Given the description of an element on the screen output the (x, y) to click on. 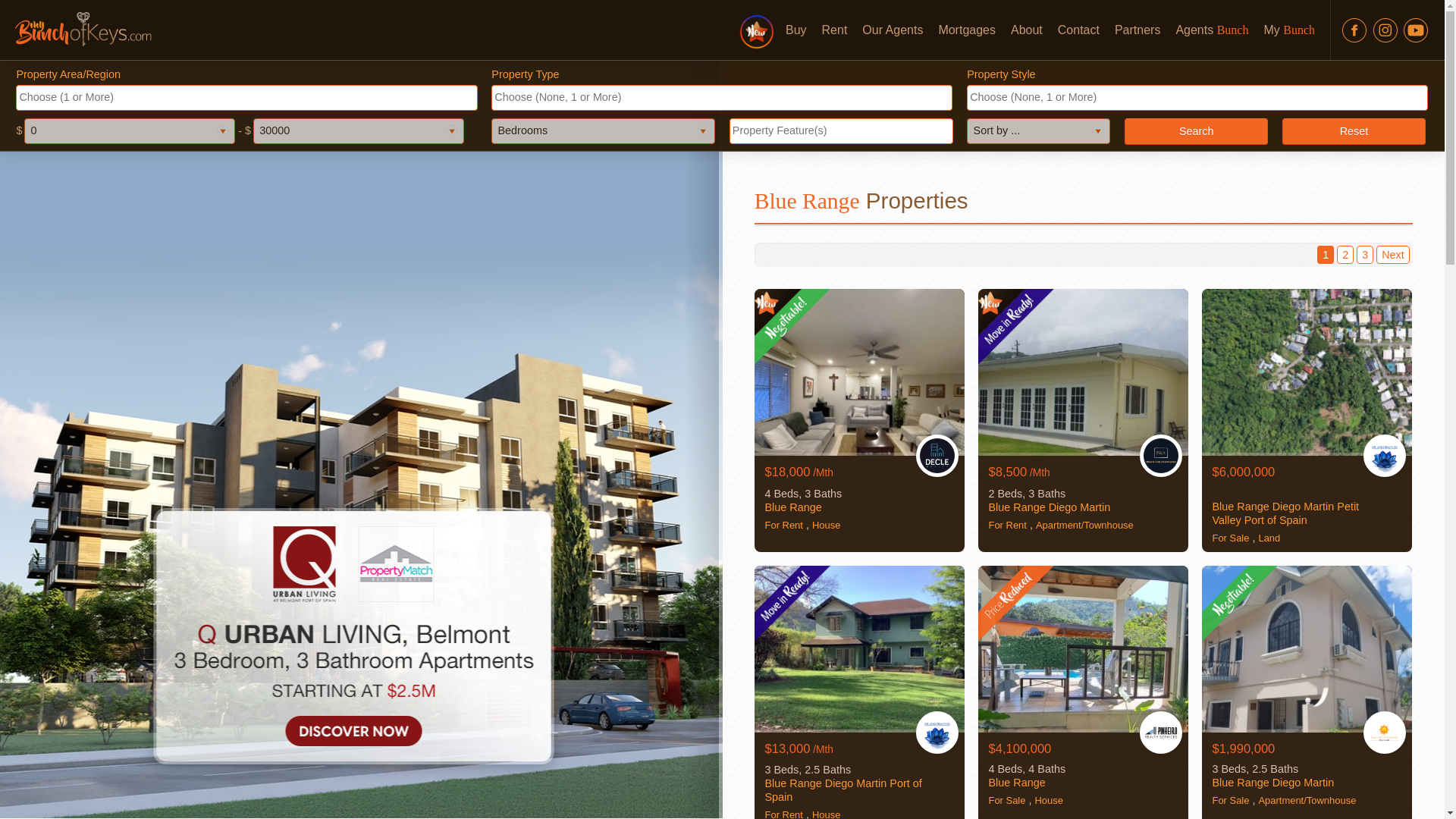
For Rent (1007, 524)
Blue Range (1016, 507)
Partners (1136, 30)
Reset (1353, 131)
Search (1196, 131)
Search (1196, 131)
Diego Martin (1079, 507)
House (826, 524)
Search (1370, 112)
View this Agent (937, 469)
